Given the description of an element on the screen output the (x, y) to click on. 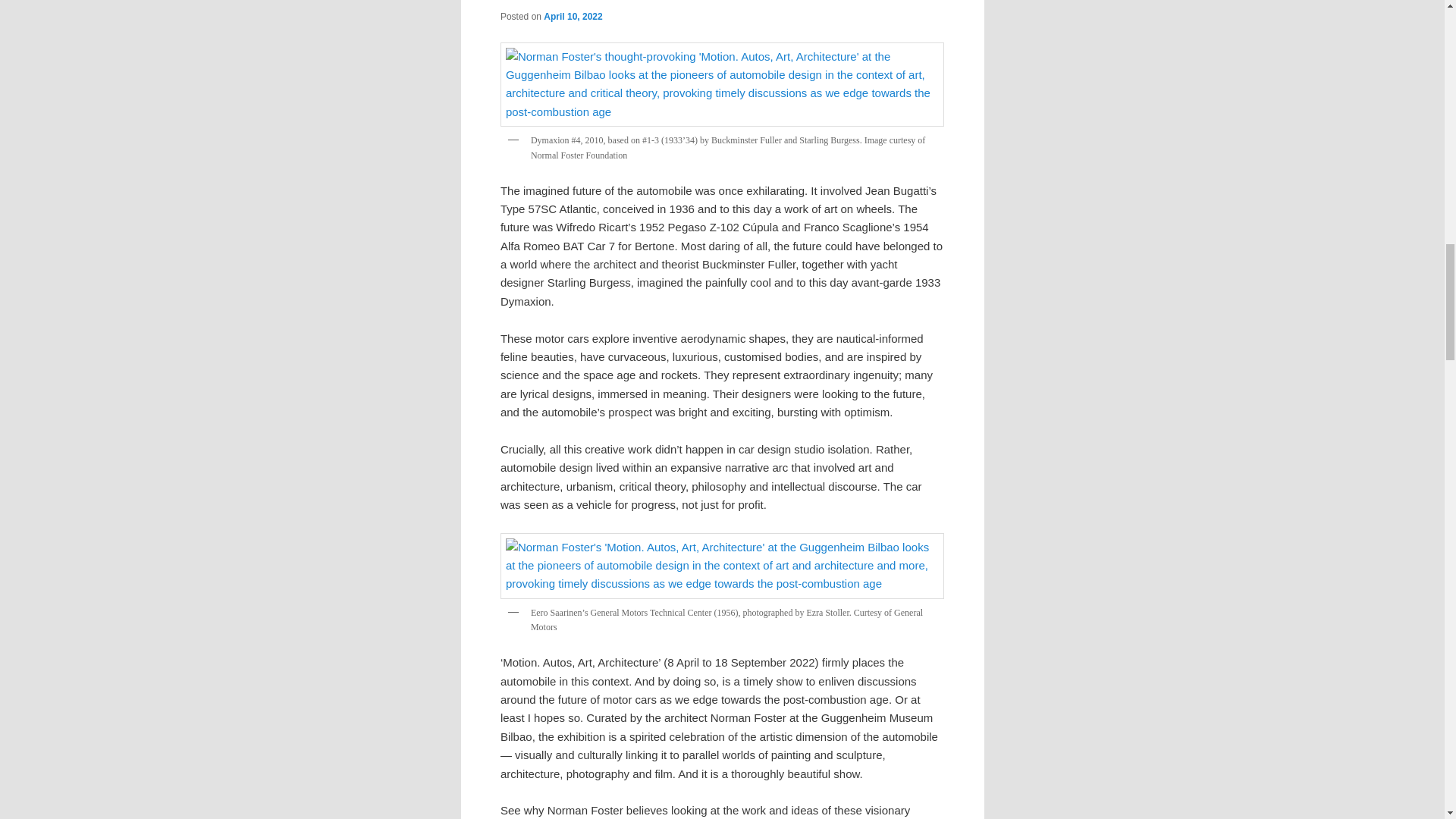
April 10, 2022 (572, 16)
